Given the description of an element on the screen output the (x, y) to click on. 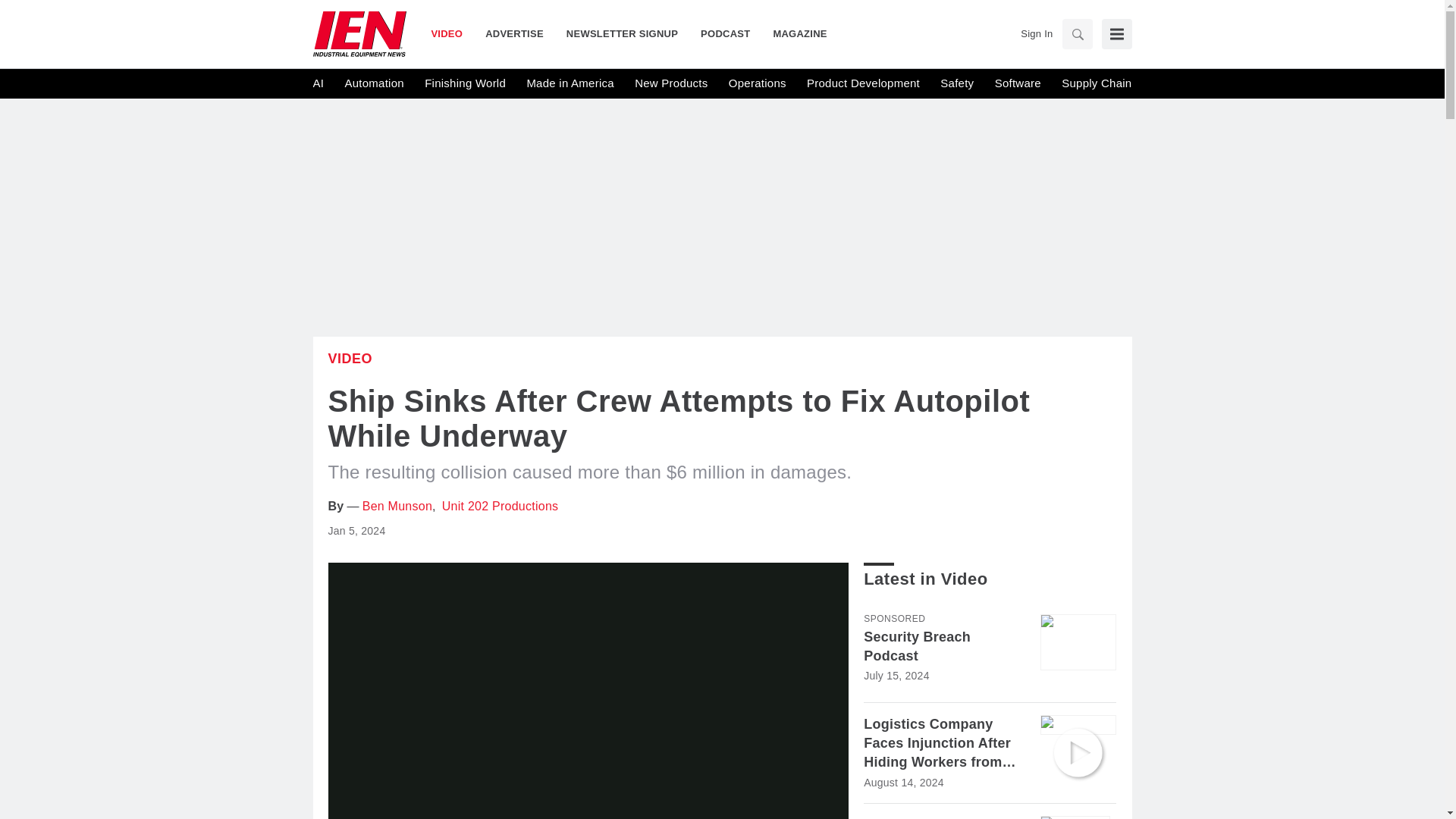
VIDEO (452, 33)
Made in America (568, 83)
Product Development (863, 83)
Automation (373, 83)
Operations (757, 83)
MAGAZINE (794, 33)
Video (349, 358)
New Products (670, 83)
NEWSLETTER SIGNUP (621, 33)
Supply Chain (1096, 83)
